Given the description of an element on the screen output the (x, y) to click on. 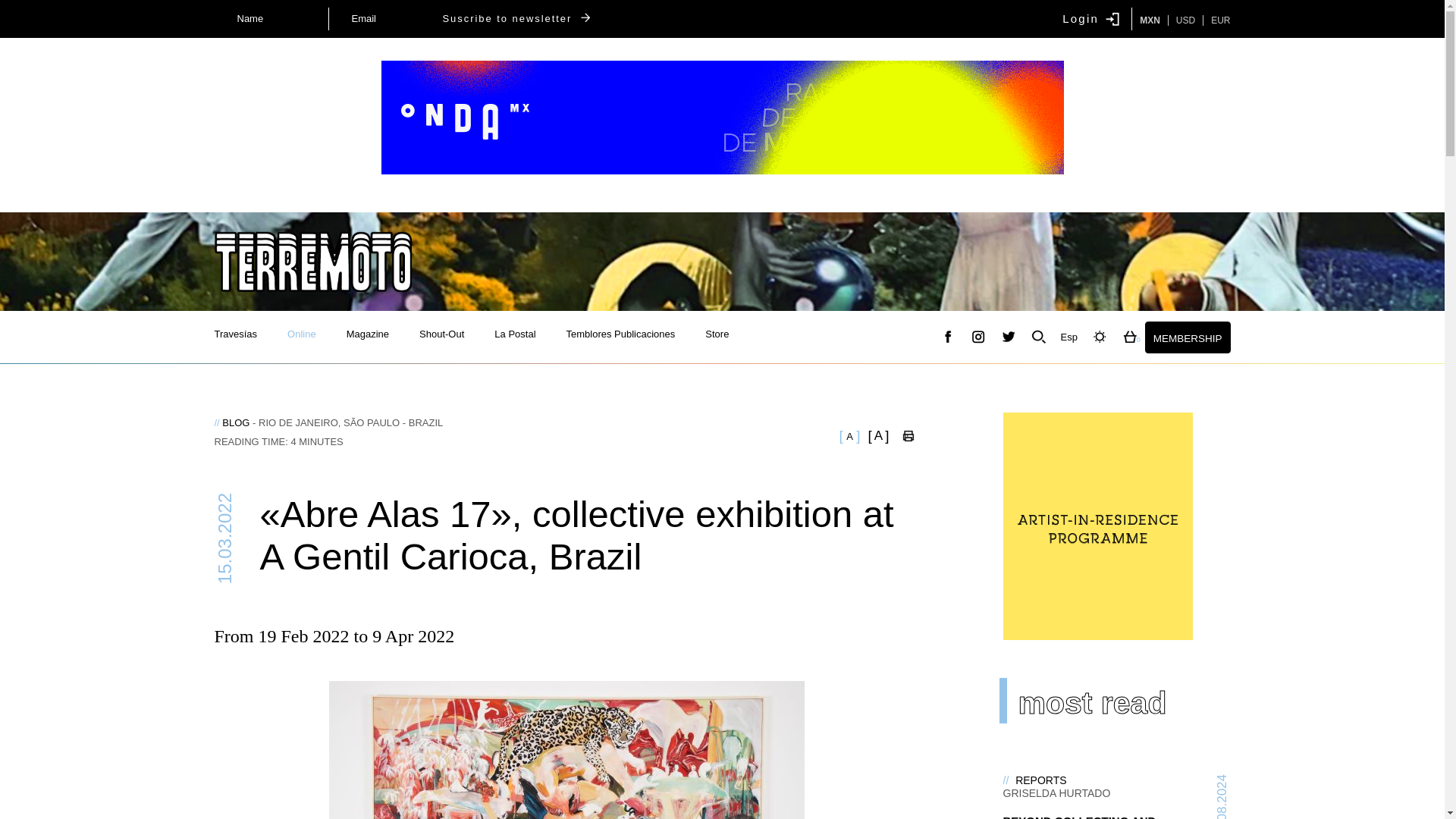
Suscribe to newsletter (518, 18)
Magazine (375, 337)
MEMBERSHIP (1187, 336)
La Postal (522, 337)
Online (300, 333)
Login (1090, 18)
0 (1129, 336)
Shout-Out (449, 337)
USD (1181, 20)
Esp (1069, 336)
